Given the description of an element on the screen output the (x, y) to click on. 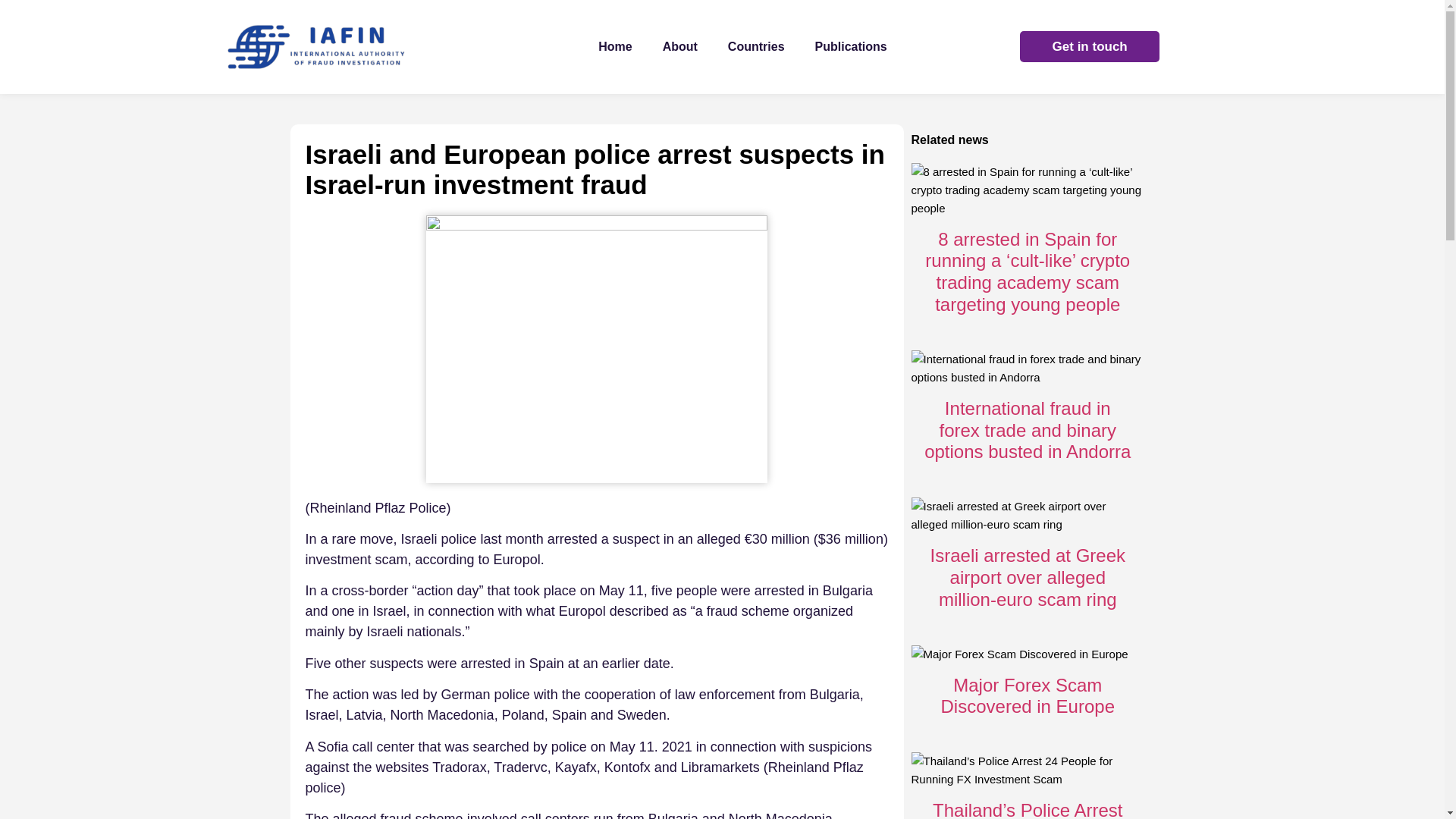
Get in touch (1089, 46)
About (680, 46)
Countries (756, 46)
Publications (850, 46)
Major Forex Scam Discovered in Europe (1026, 696)
Home (614, 46)
